Given the description of an element on the screen output the (x, y) to click on. 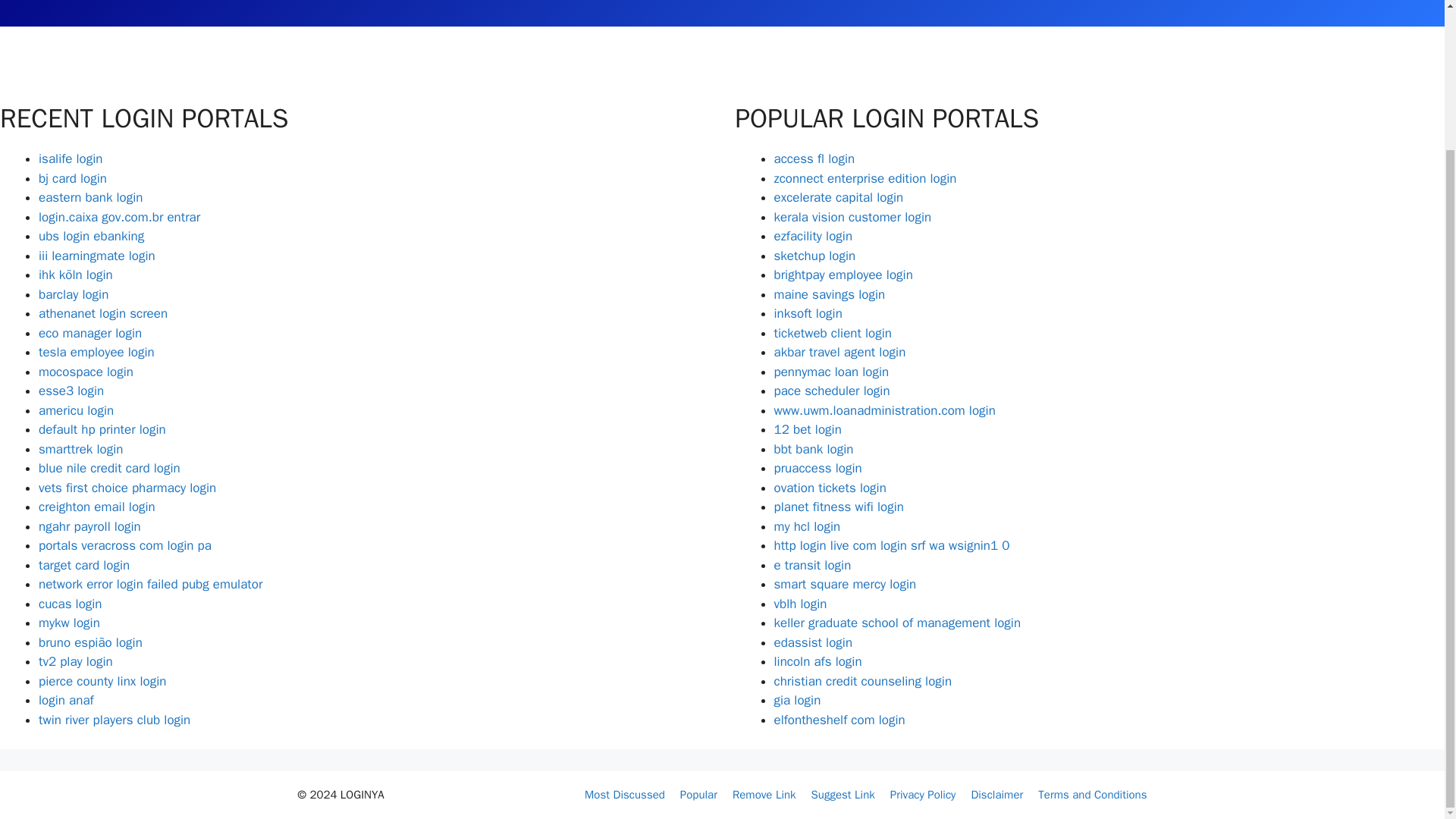
americu login (76, 409)
barclay login (73, 294)
eco manager login (90, 332)
mocospace login (86, 371)
iii learningmate login (97, 254)
network error login failed pubg emulator (150, 584)
mykw login (69, 622)
esse3 login (71, 390)
vets first choice pharmacy login (127, 487)
eastern bank login (90, 197)
